Given the description of an element on the screen output the (x, y) to click on. 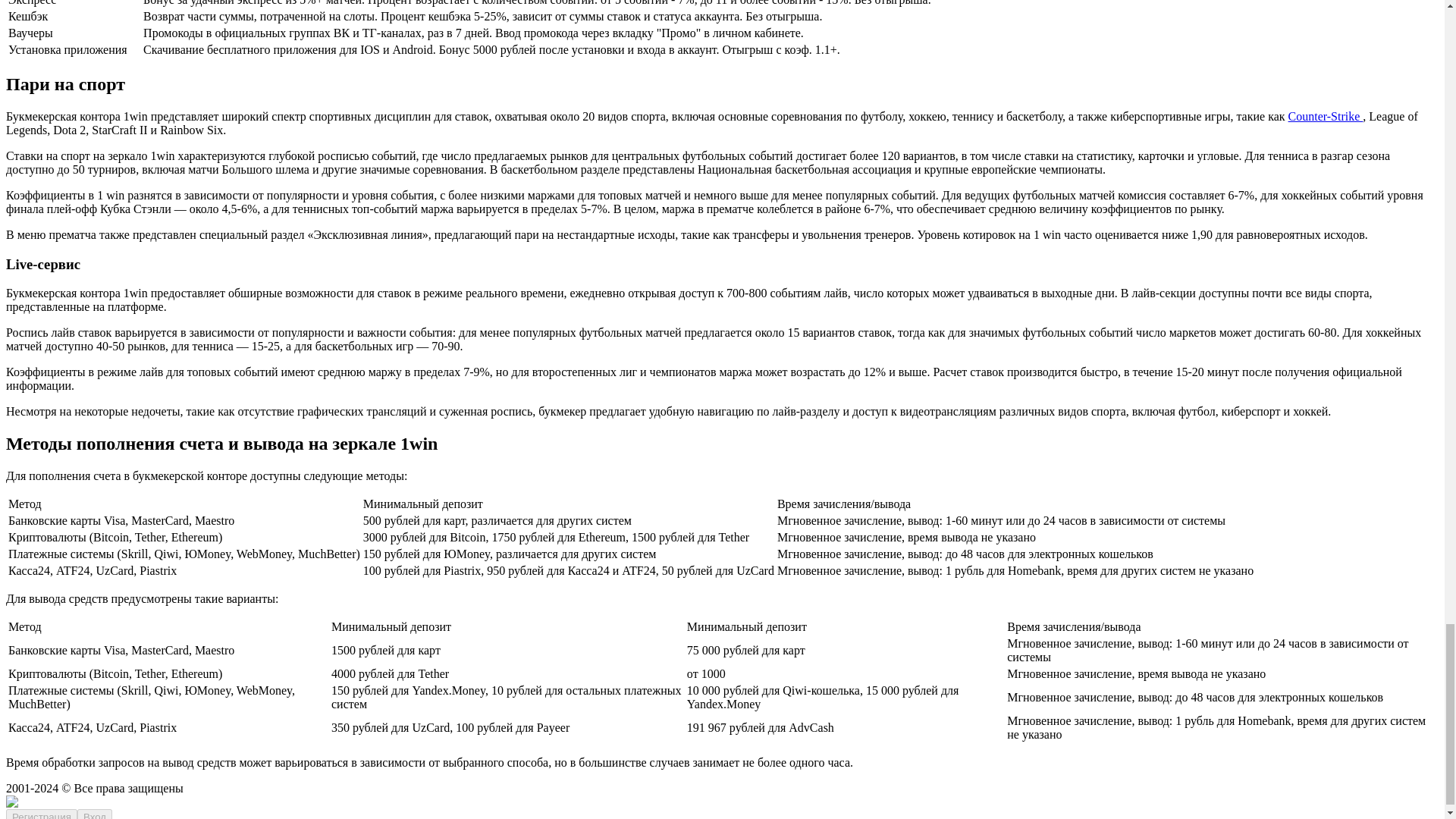
Counter-Strike (1325, 115)
